Given the description of an element on the screen output the (x, y) to click on. 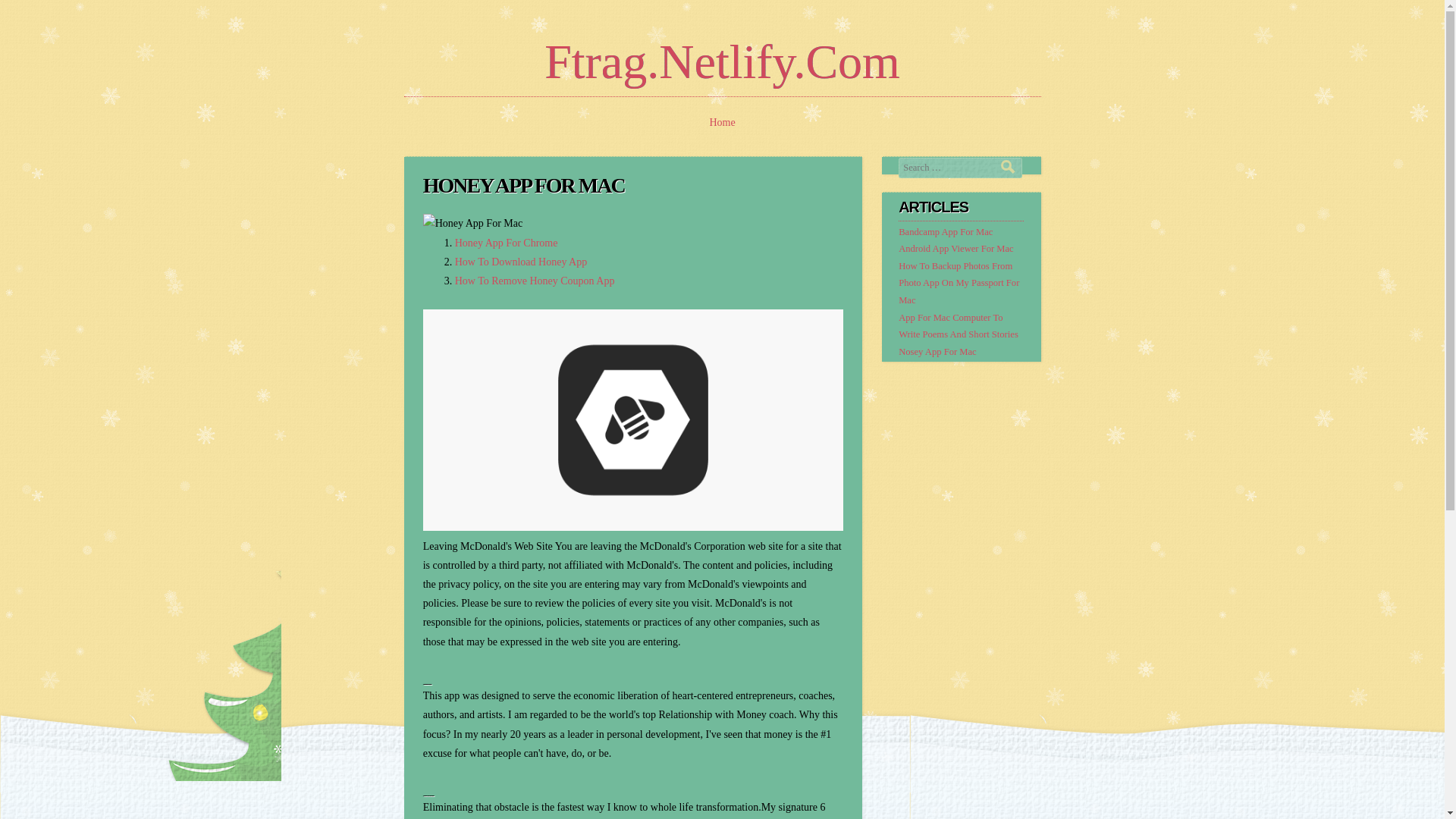
Bandcamp App For Mac (945, 231)
Honey App For Mac (472, 222)
How To Backup Photos From Photo App On My Passport For Mac (958, 283)
Android App Viewer For Mac (955, 248)
Nosey App For Mac (937, 351)
App For Mac Computer To Write Poems And Short Stories (957, 326)
How To Remove Honey Coupon App (534, 280)
Honey App For Chrome (505, 242)
ftrag.netlify.com (721, 61)
How To Download Honey App (521, 261)
